Given the description of an element on the screen output the (x, y) to click on. 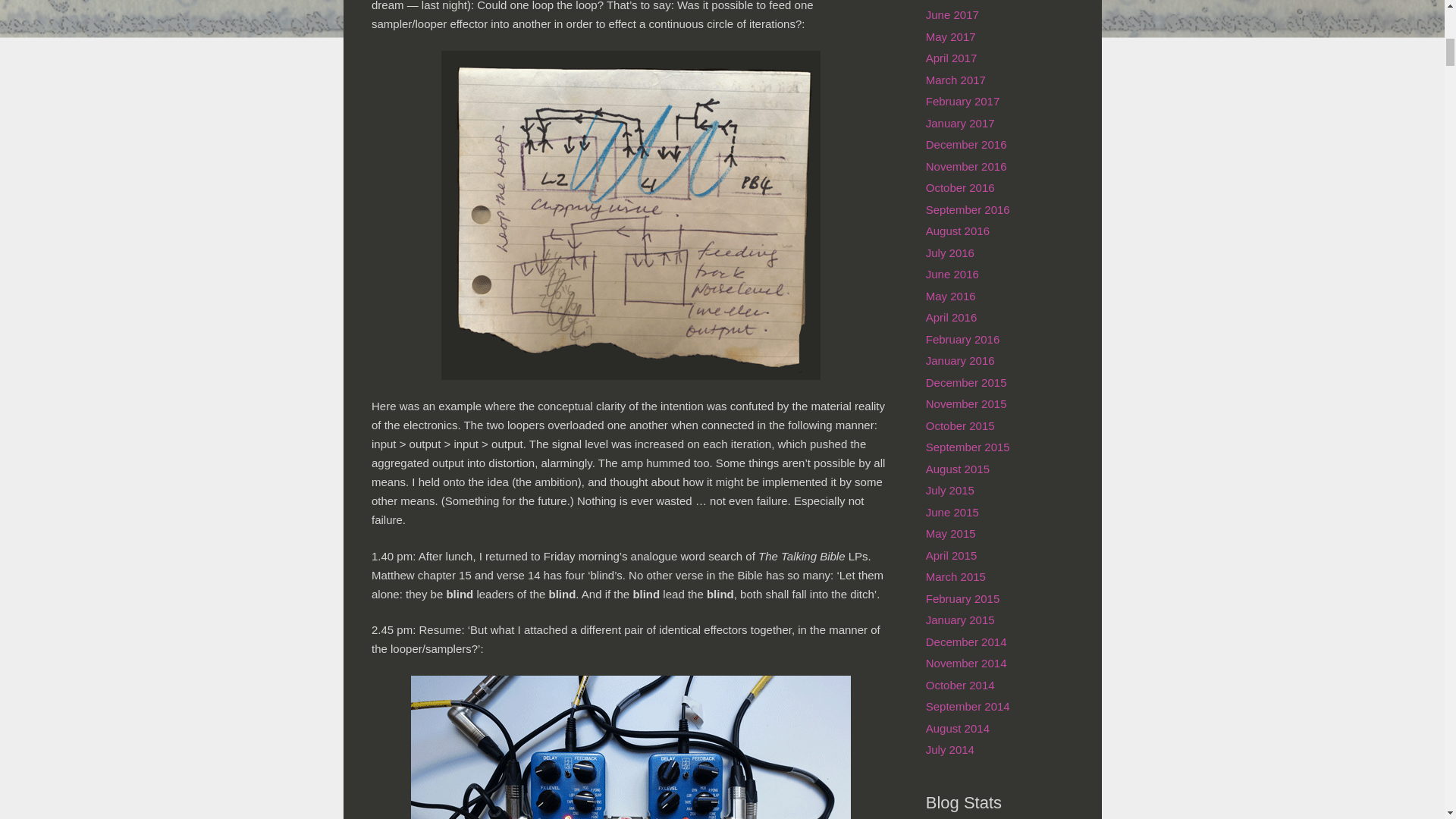
Back to top (1413, 26)
